Given the description of an element on the screen output the (x, y) to click on. 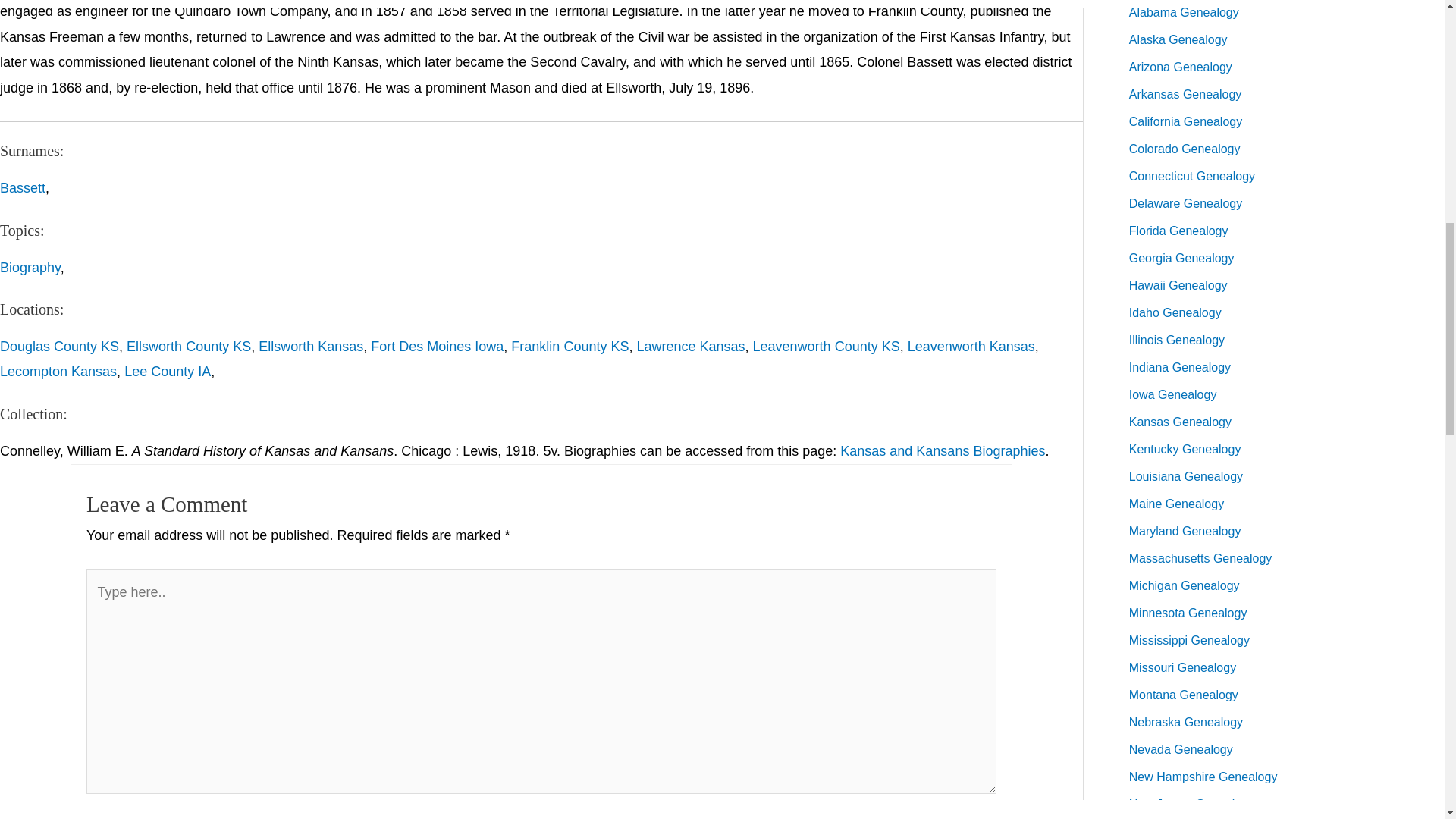
Fort Des Moines Iowa (437, 346)
Lee County IA (167, 371)
Arizona Genealogy (1180, 66)
Alabama Genealogy (1184, 11)
Franklin County KS (569, 346)
Bassett (22, 187)
Alaska Genealogy (1178, 39)
Lecompton Kansas (58, 371)
Biography (30, 267)
Ellsworth Kansas (310, 346)
Alabama Genealogy (1184, 11)
Kansas and Kansans Biographies (942, 450)
Kansas and Kansans Biographies (942, 450)
Ellsworth County KS (188, 346)
Douglas County KS (59, 346)
